Given the description of an element on the screen output the (x, y) to click on. 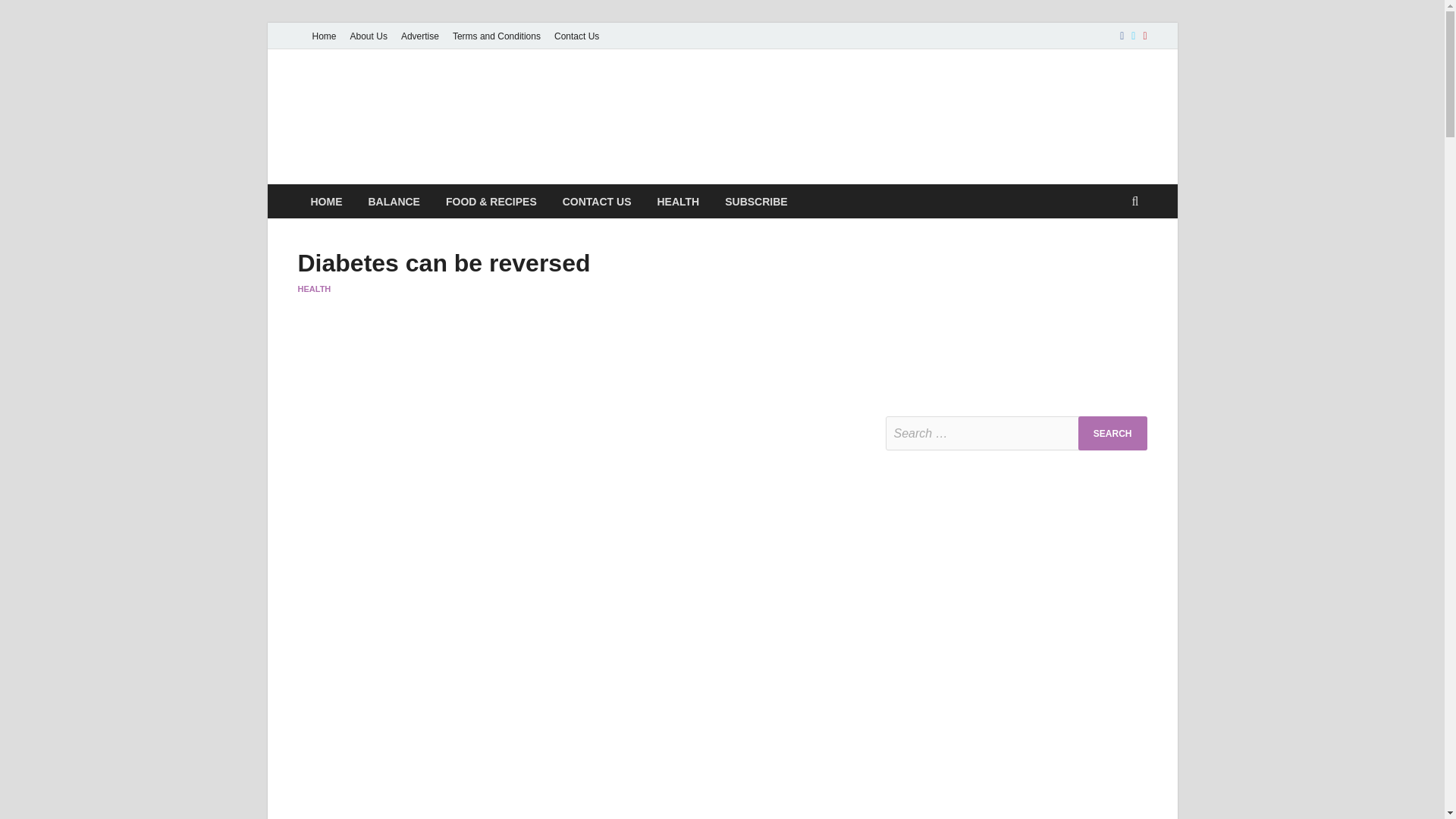
BALANCE (393, 201)
CONTACT US (597, 201)
HOME (326, 201)
SUBSCRIBE (755, 201)
HEALTH (677, 201)
Search (1112, 433)
HEALTH (313, 288)
Contact Us (576, 35)
Home (323, 35)
Advertise (419, 35)
About Us (368, 35)
DMCA.com Protection Status (999, 358)
Terms and Conditions (496, 35)
Search (1112, 433)
